Given the description of an element on the screen output the (x, y) to click on. 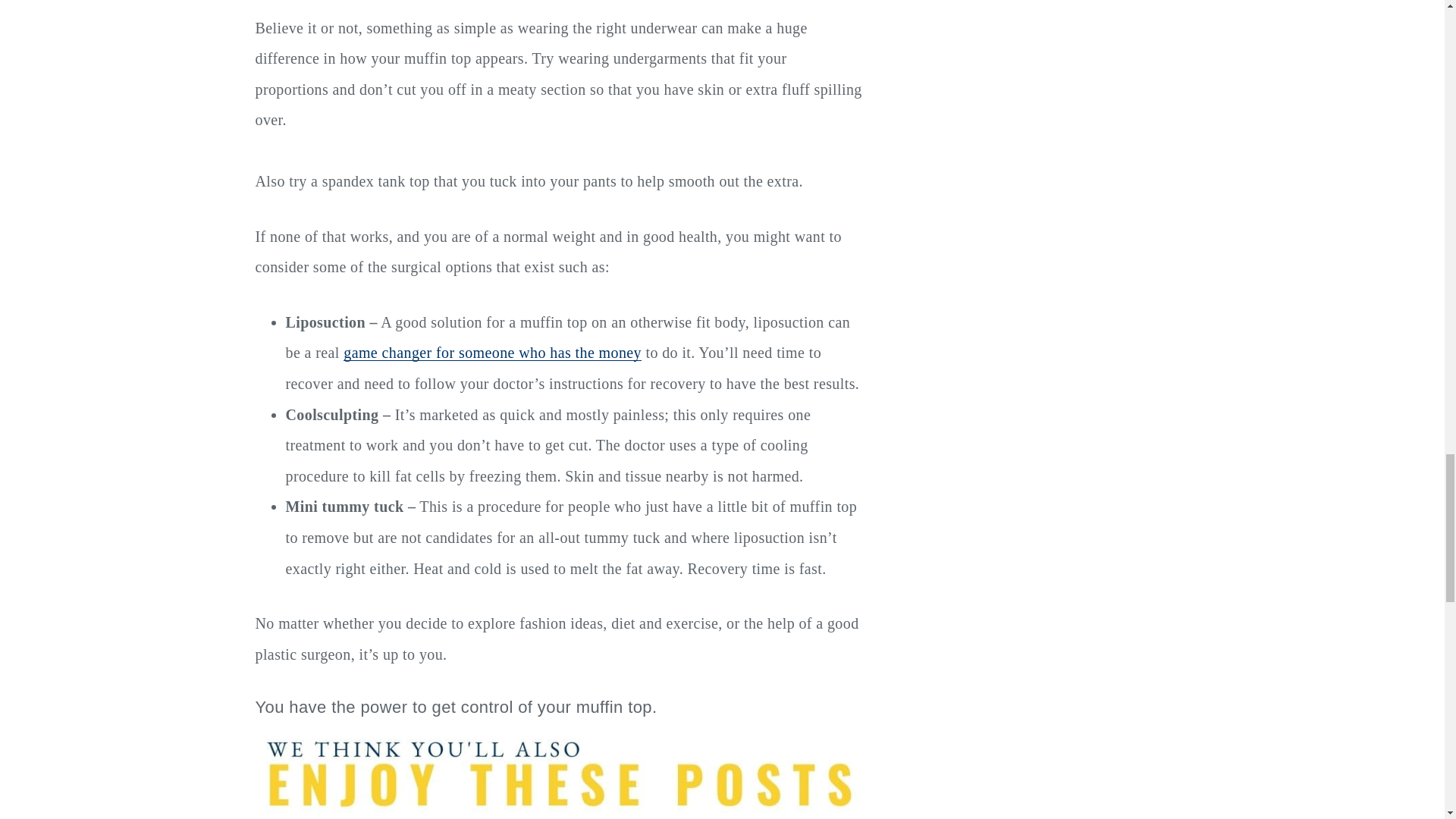
5 Ways People Make Money Online Gaming (492, 352)
game changer for someone who has the money (492, 352)
